Given the description of an element on the screen output the (x, y) to click on. 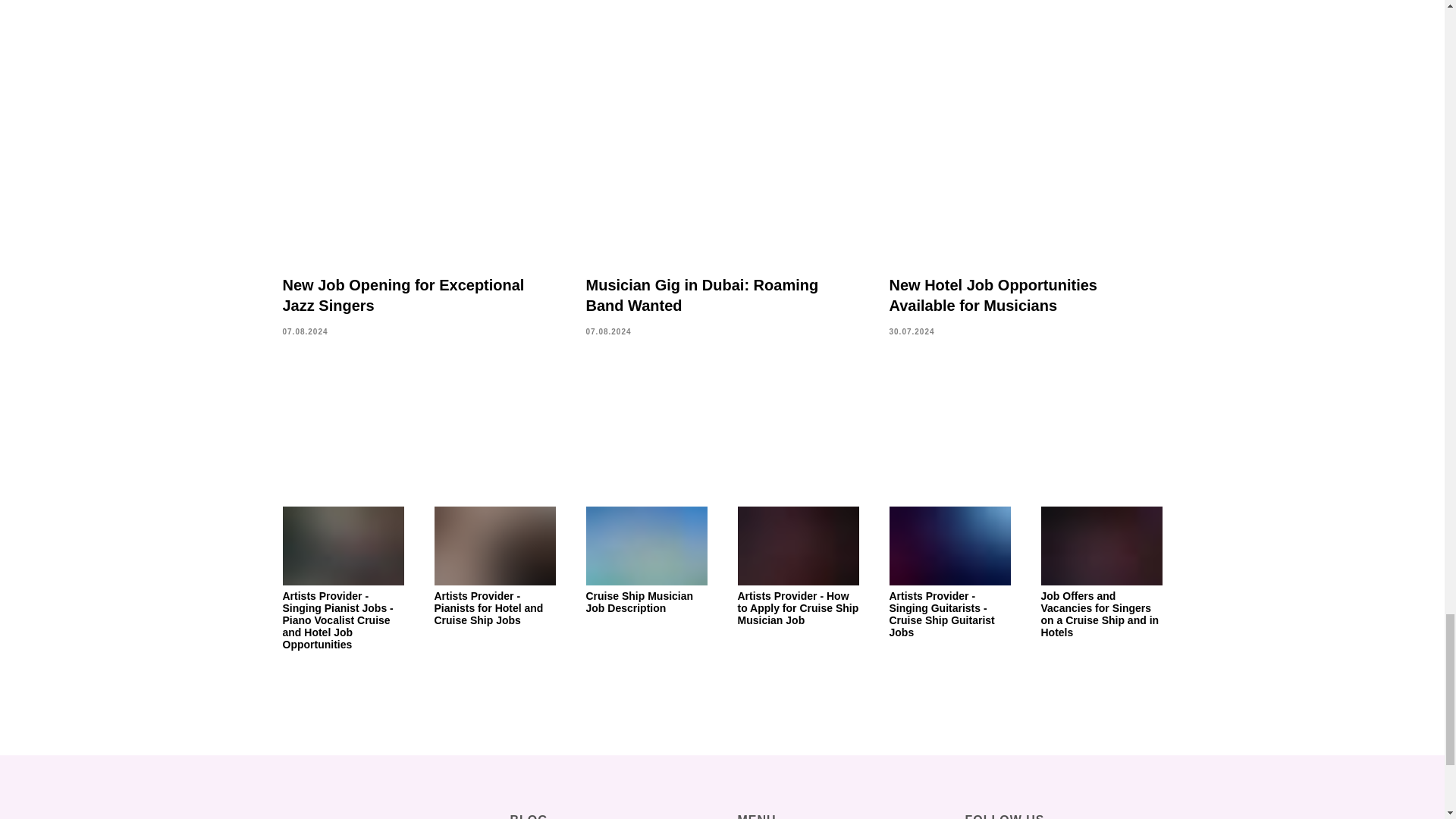
Musician Gig in Dubai: Roaming Band Wanted (701, 294)
Artists Provider - Pianists for Hotel and Cruise Ship Jobs (493, 566)
New Hotel Job Opportunities Available for Musicians (992, 294)
Cruise Ship Musician Job Description (645, 560)
New Job Opening for Exceptional Jazz Singers (403, 294)
Artists Provider - How to Apply for Cruise Ship Musician Job (797, 566)
